Given the description of an element on the screen output the (x, y) to click on. 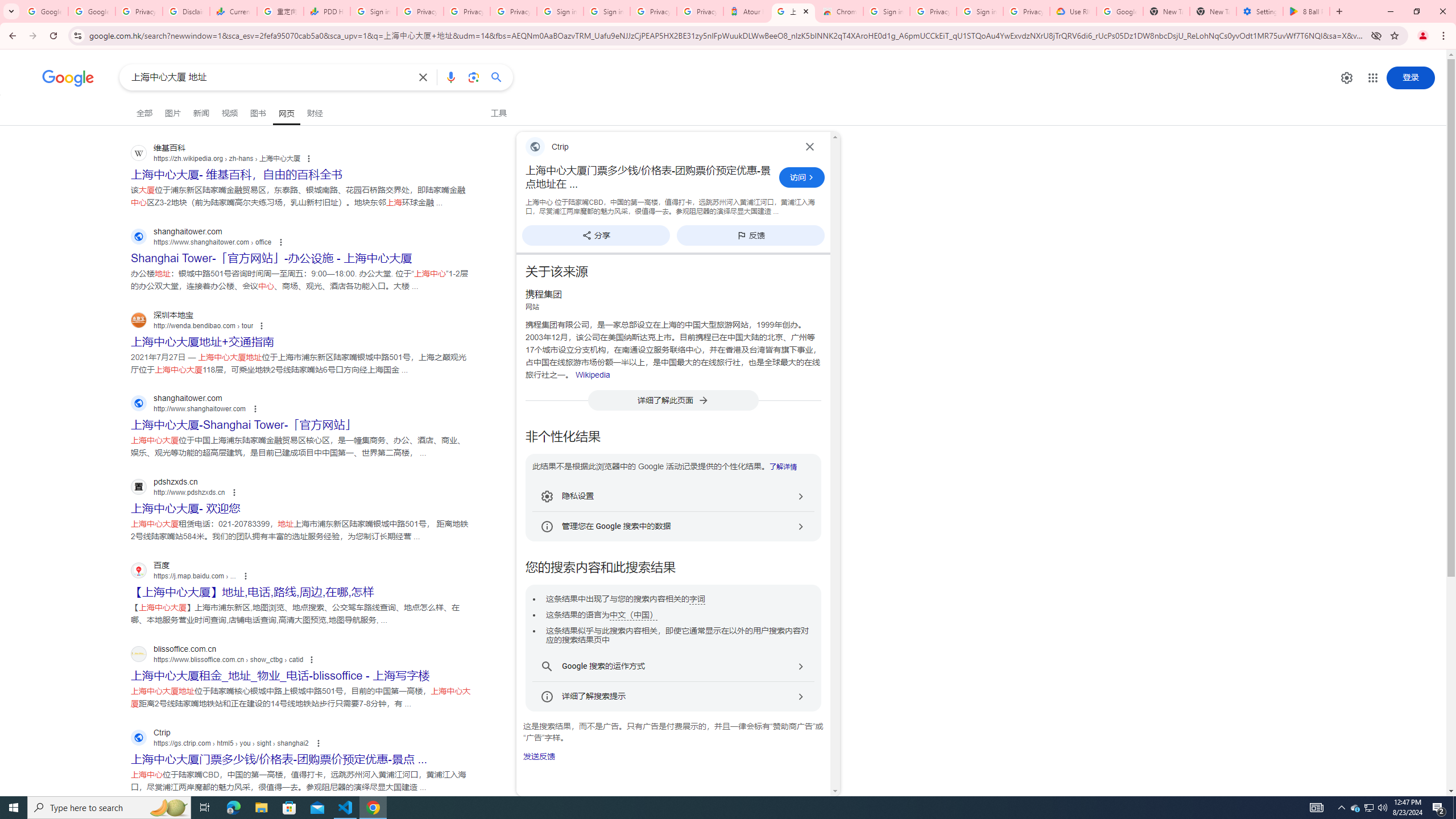
New Tab (1213, 11)
Settings - System (1259, 11)
